Given the description of an element on the screen output the (x, y) to click on. 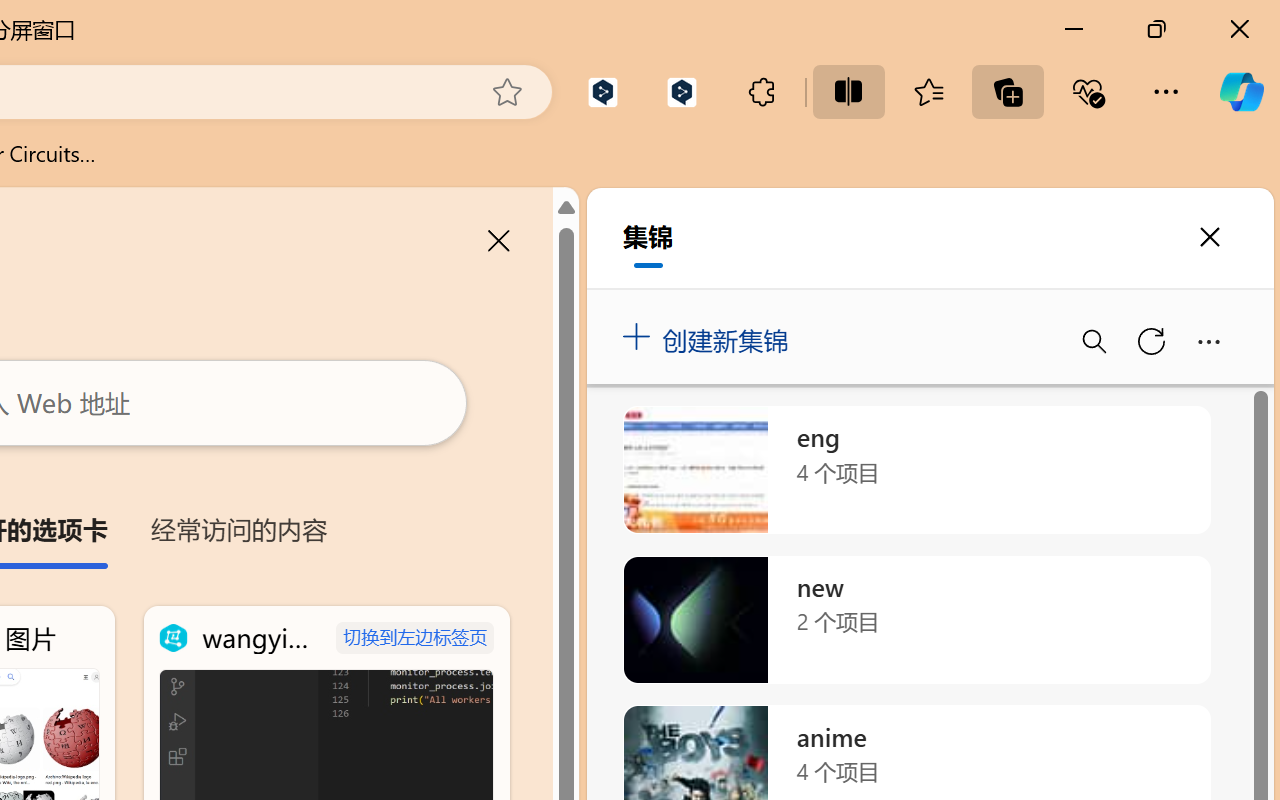
Swap "from" and "to" languages. (1065, 426)
Czech (detected) (1037, 250)
Czech (991, 455)
